Given the description of an element on the screen output the (x, y) to click on. 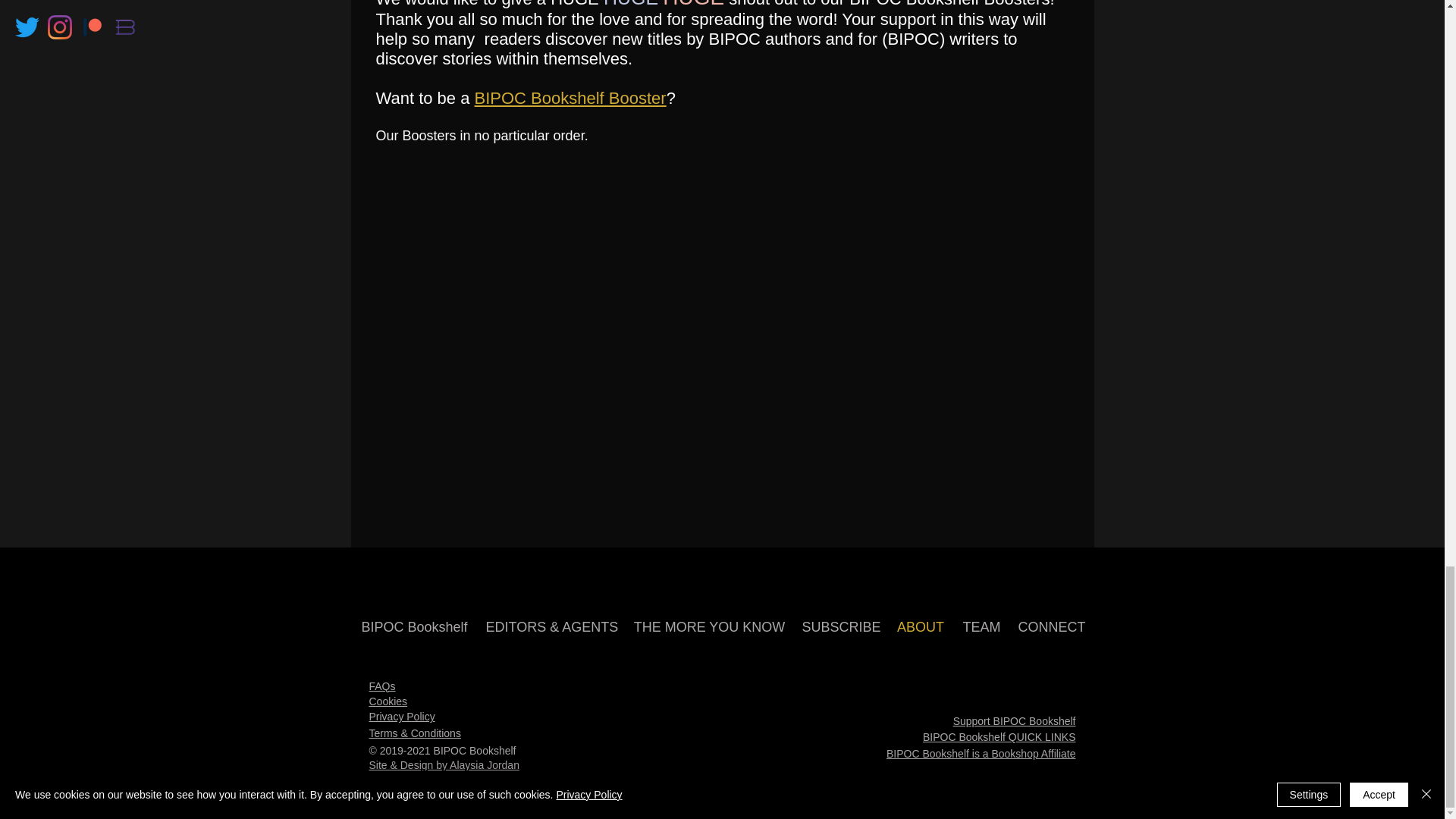
BIPOC Bookshelf Booster (570, 97)
